Given the description of an element on the screen output the (x, y) to click on. 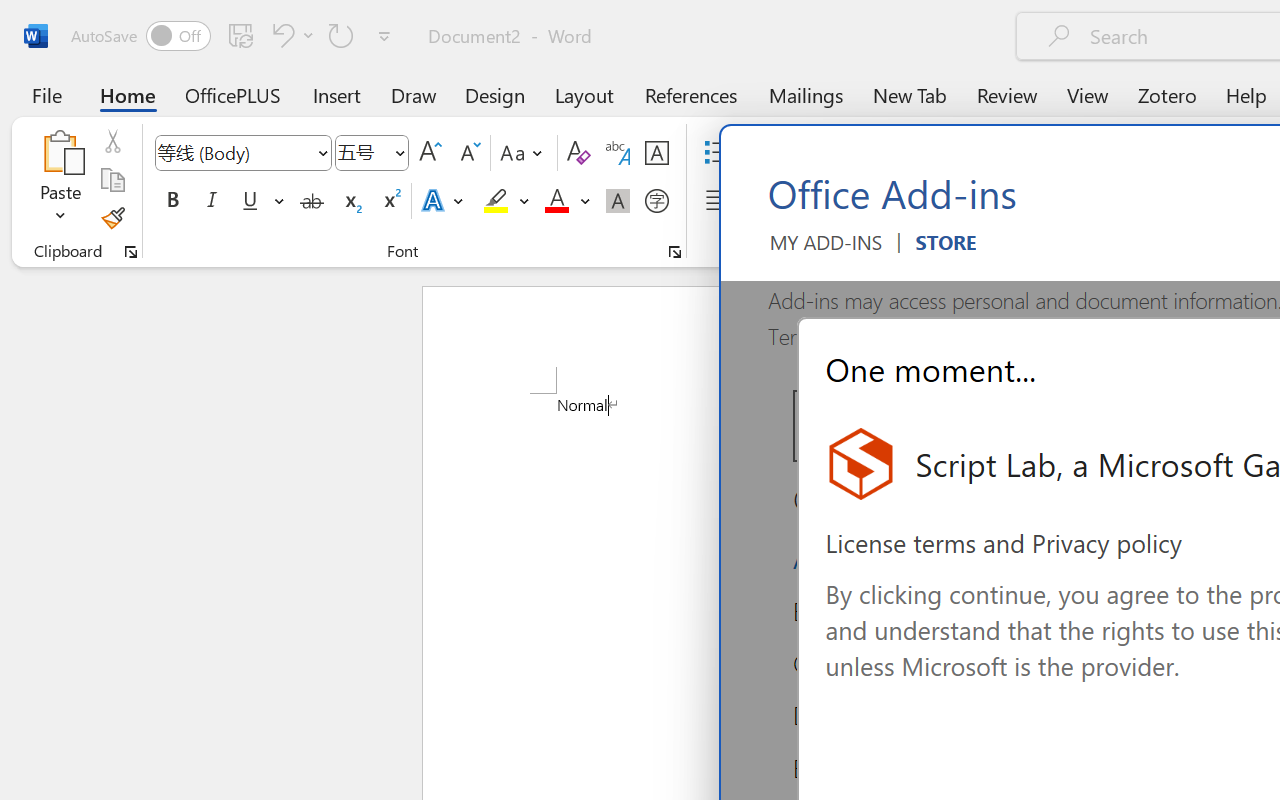
Text Effects and Typography (444, 201)
Paste (60, 151)
Character Shading (618, 201)
Clear Formatting (578, 153)
AutoSave (140, 35)
Italic (212, 201)
Font... (675, 252)
Underline (261, 201)
Paste (60, 179)
Font (242, 153)
Copy (112, 179)
Zotero (1166, 94)
Subscript (350, 201)
Cut (112, 141)
Text Highlight Color (506, 201)
